Given the description of an element on the screen output the (x, y) to click on. 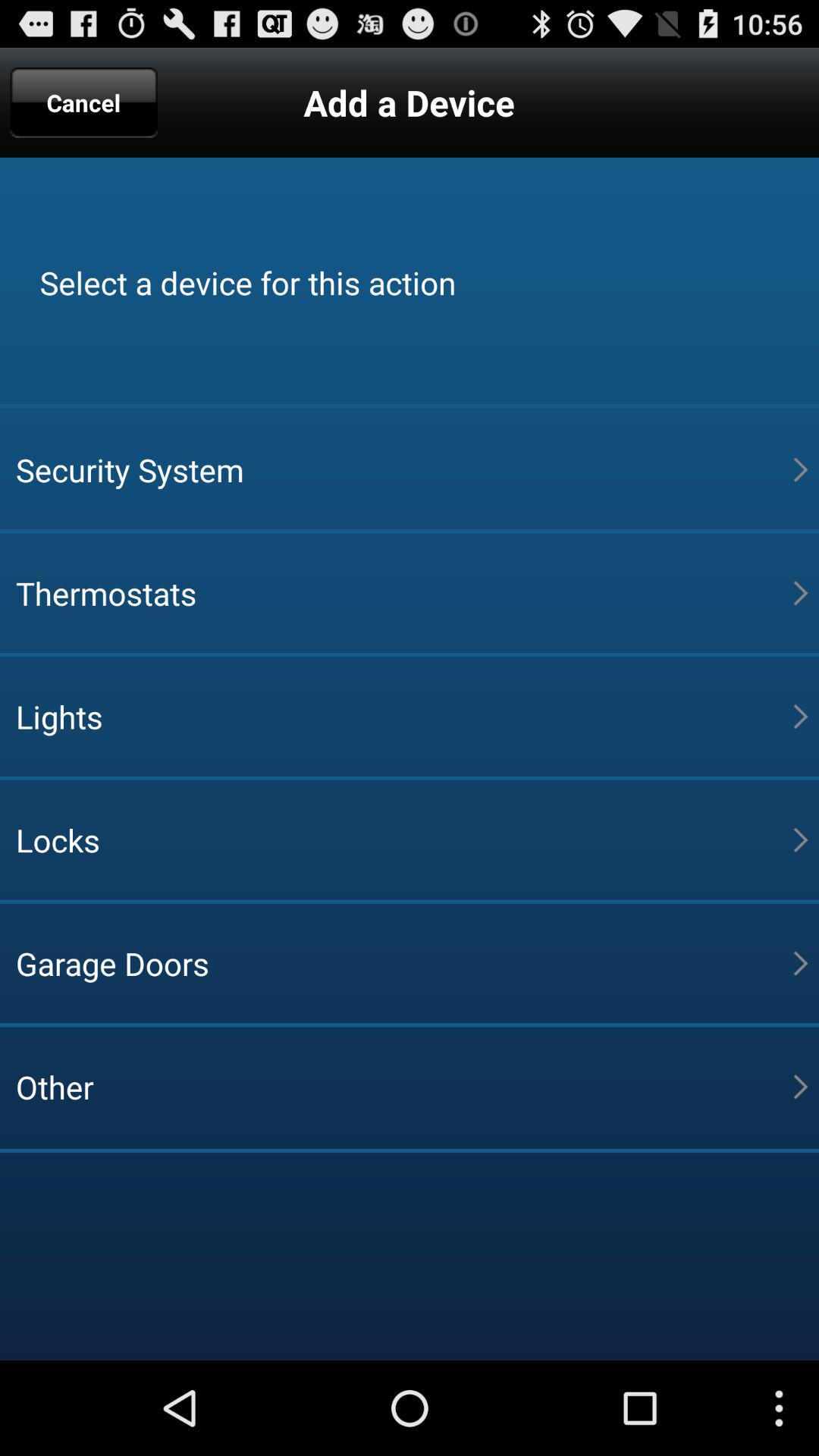
jump until lights item (403, 716)
